Given the description of an element on the screen output the (x, y) to click on. 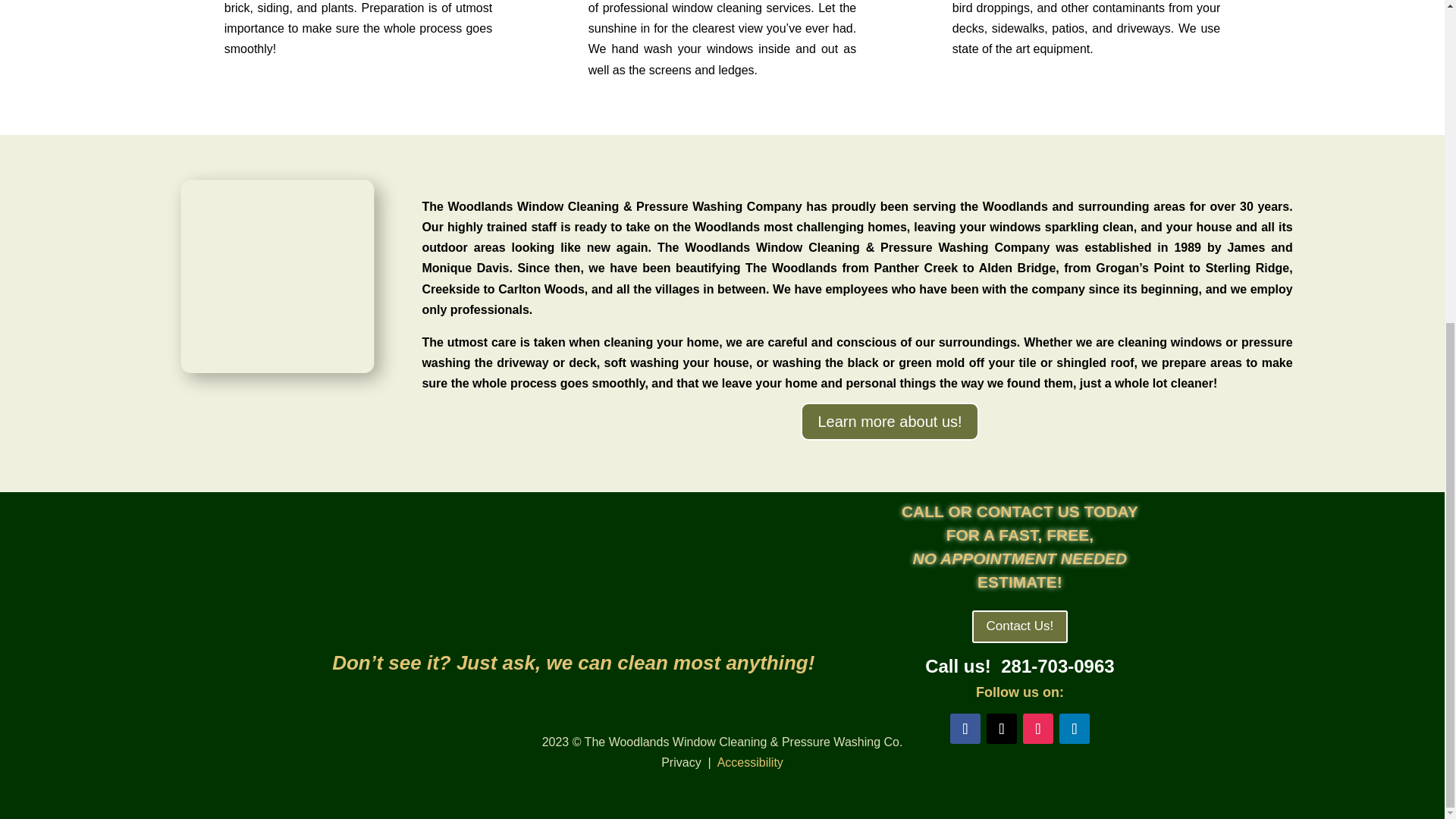
Follow on Facebook (964, 728)
Contact Us! (1020, 626)
Learn more about us! (889, 421)
281-703-0963 (1057, 666)
Follow on Instagram (1037, 728)
Logo-v2 (573, 565)
Accessibility (750, 762)
TheWoodlandsWatertower (255, 253)
Follow on X (1001, 728)
Follow on LinkedIn (1074, 728)
